Given the description of an element on the screen output the (x, y) to click on. 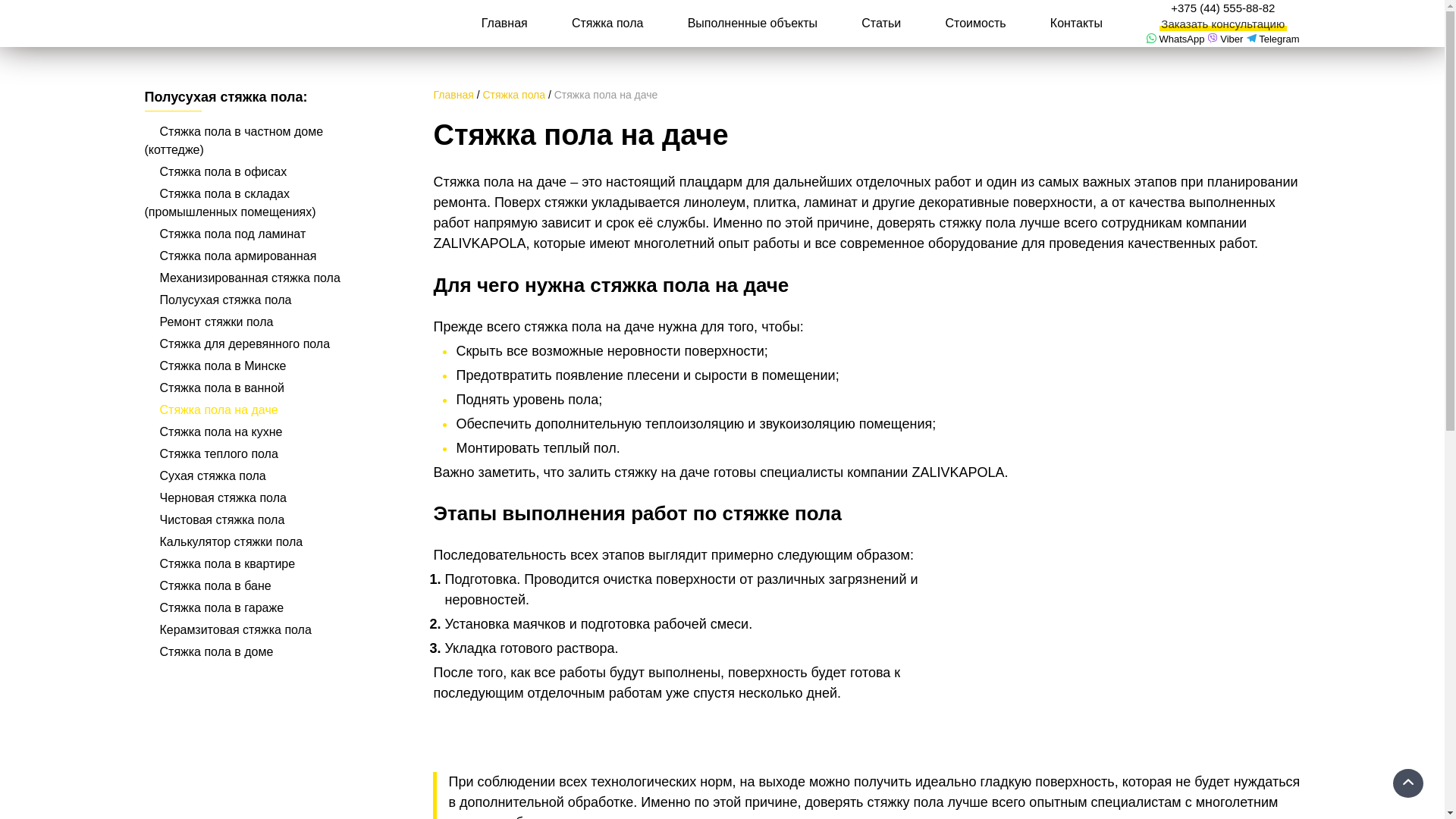
Viber Element type: text (1225, 38)
+375 (44) 555-88-82 Element type: text (1222, 8)
Telegram Element type: text (1272, 38)
WhatsApp Element type: text (1175, 38)
